Given the description of an element on the screen output the (x, y) to click on. 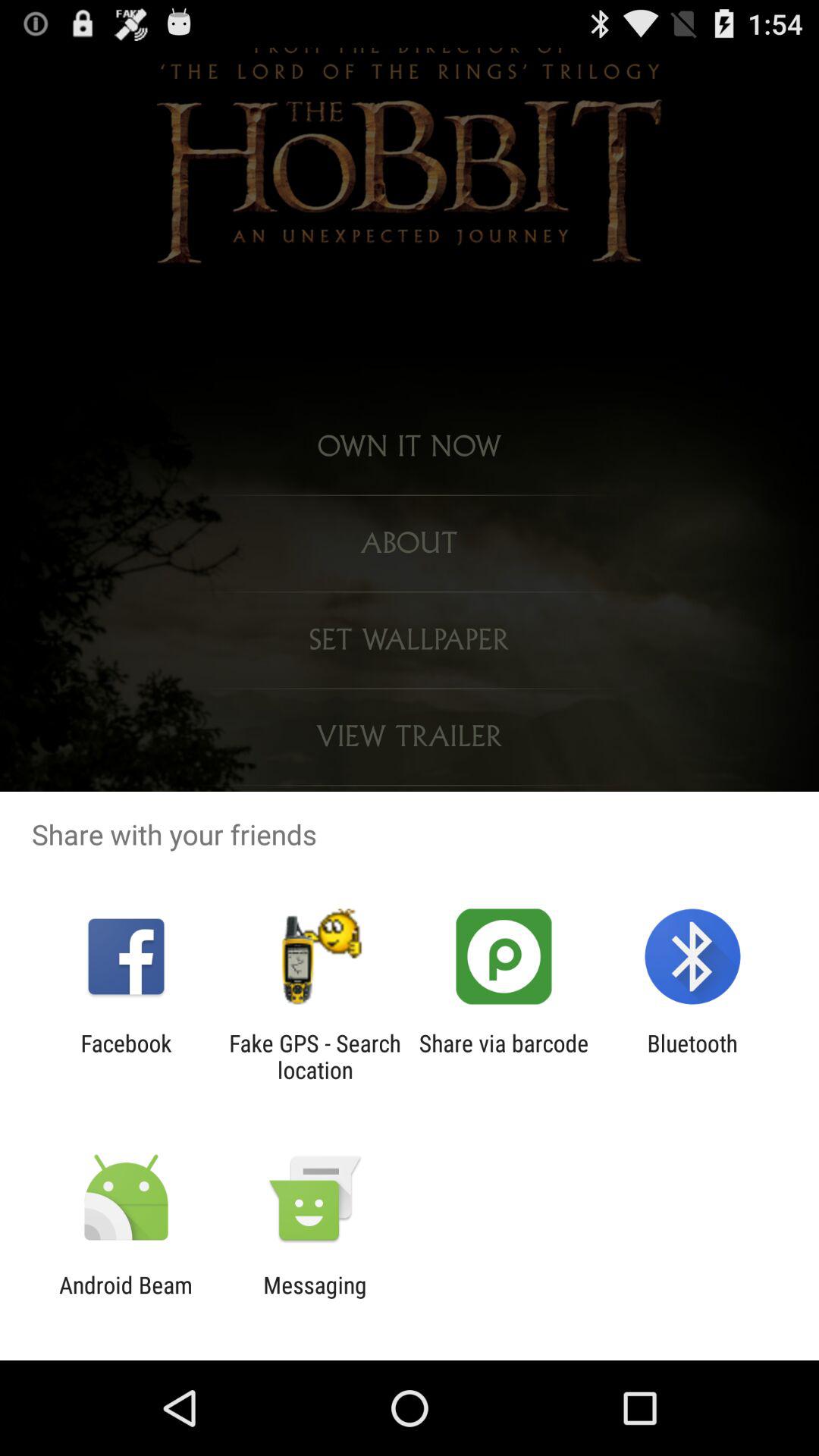
choose app to the left of bluetooth (503, 1056)
